Given the description of an element on the screen output the (x, y) to click on. 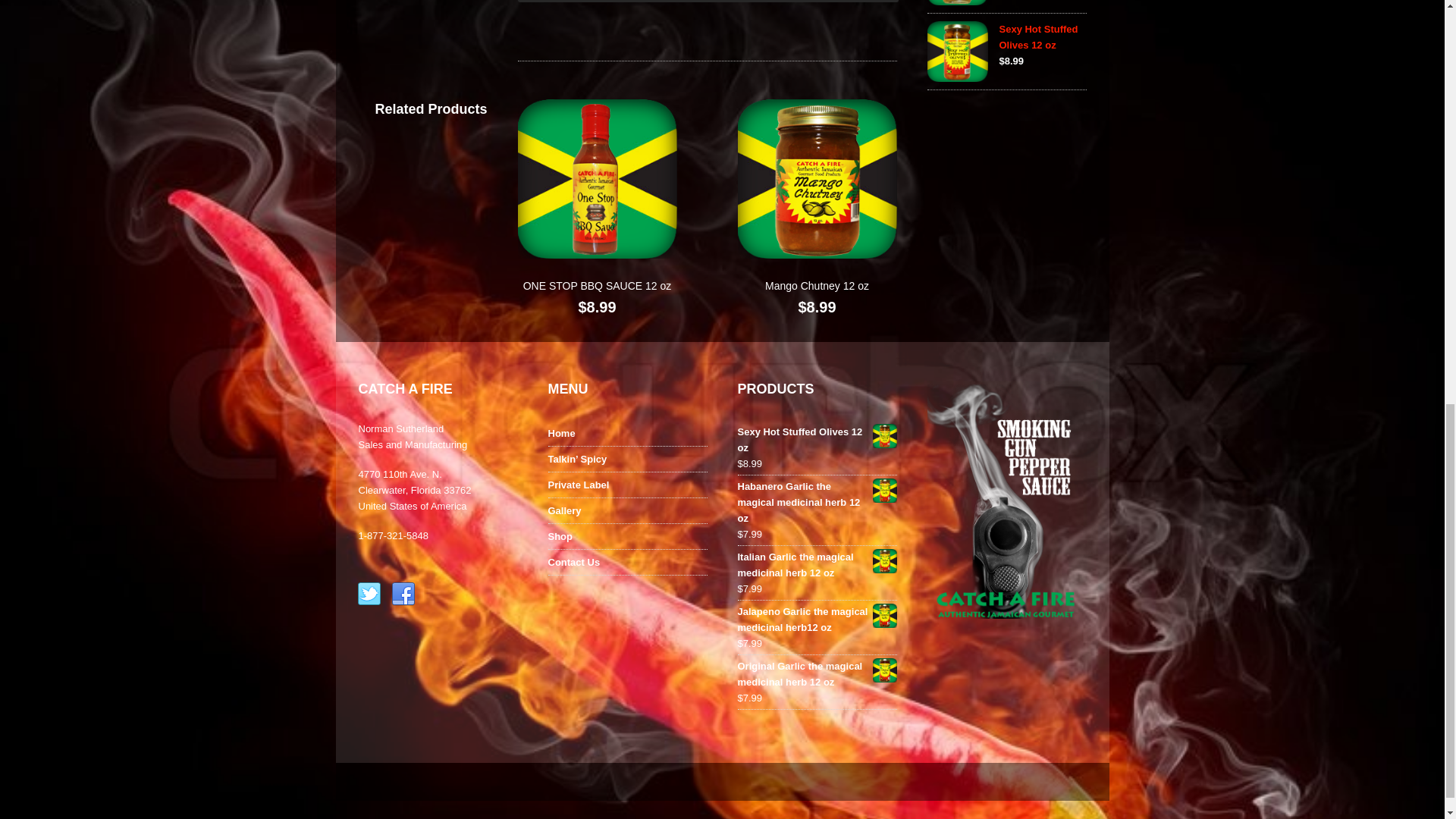
Italian Garlic the magical medicinal herb 12 oz (816, 564)
Habanero Garlic the magical medicinal herb 12 oz (816, 502)
Original Garlic the magical medicinal herb 12 oz (816, 674)
Home (561, 432)
Sexy Hot Stuffed Olives 12 oz (1078, 38)
Sexy Hot Stuffed Olives 12 oz (1078, 38)
Jalapeno Garlic the magical medicinal herb12 oz (816, 619)
Sexy Hot Stuffed Olives 12 oz (816, 439)
ONE-STOP-BBQsq (596, 178)
MANGO-CHUTNEYsq (816, 178)
